Given the description of an element on the screen output the (x, y) to click on. 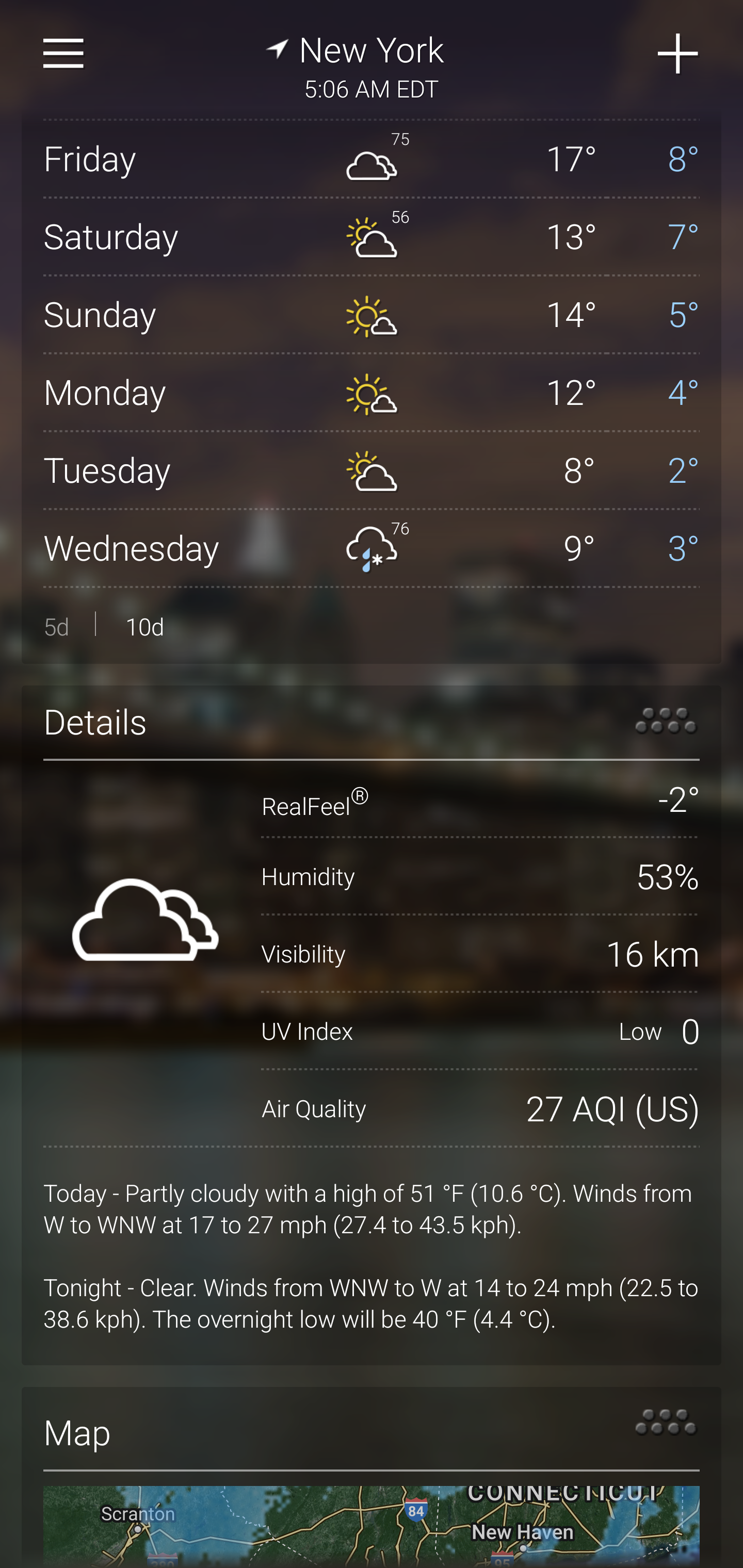
Sidebar (64, 54)
Add City (678, 53)
Forecast Toggle. 10 days (371, 625)
Google Map (371, 1527)
